Given the description of an element on the screen output the (x, y) to click on. 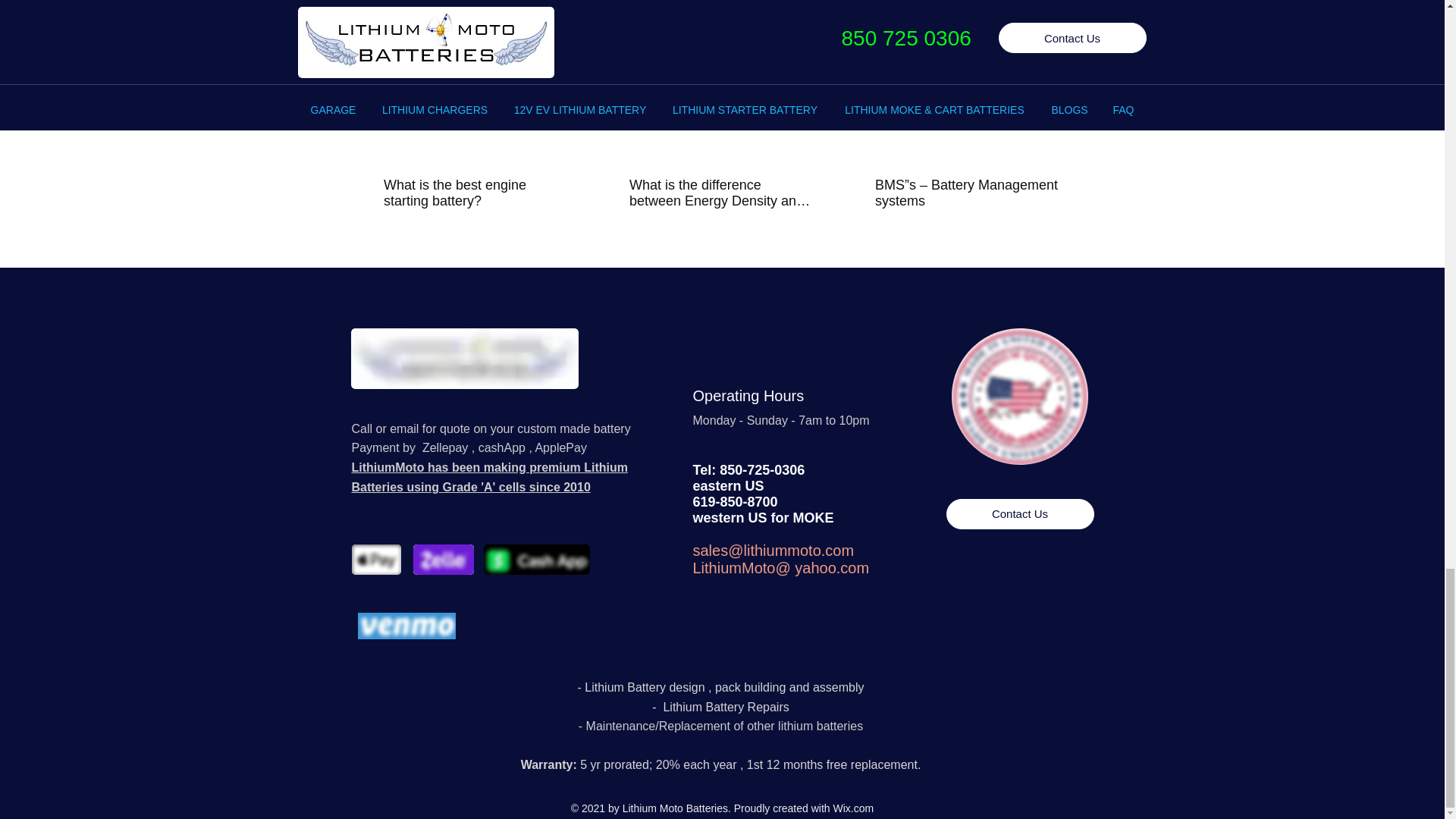
Contact Us (1020, 513)
lithium starting battery (536, 559)
See All (1061, 10)
Replace car battery with lithium  (1018, 396)
lithium starting battery  (376, 559)
lithium starting battery  (464, 358)
 Wix.com (852, 808)
What is the best engine starting battery? (475, 193)
